Given the description of an element on the screen output the (x, y) to click on. 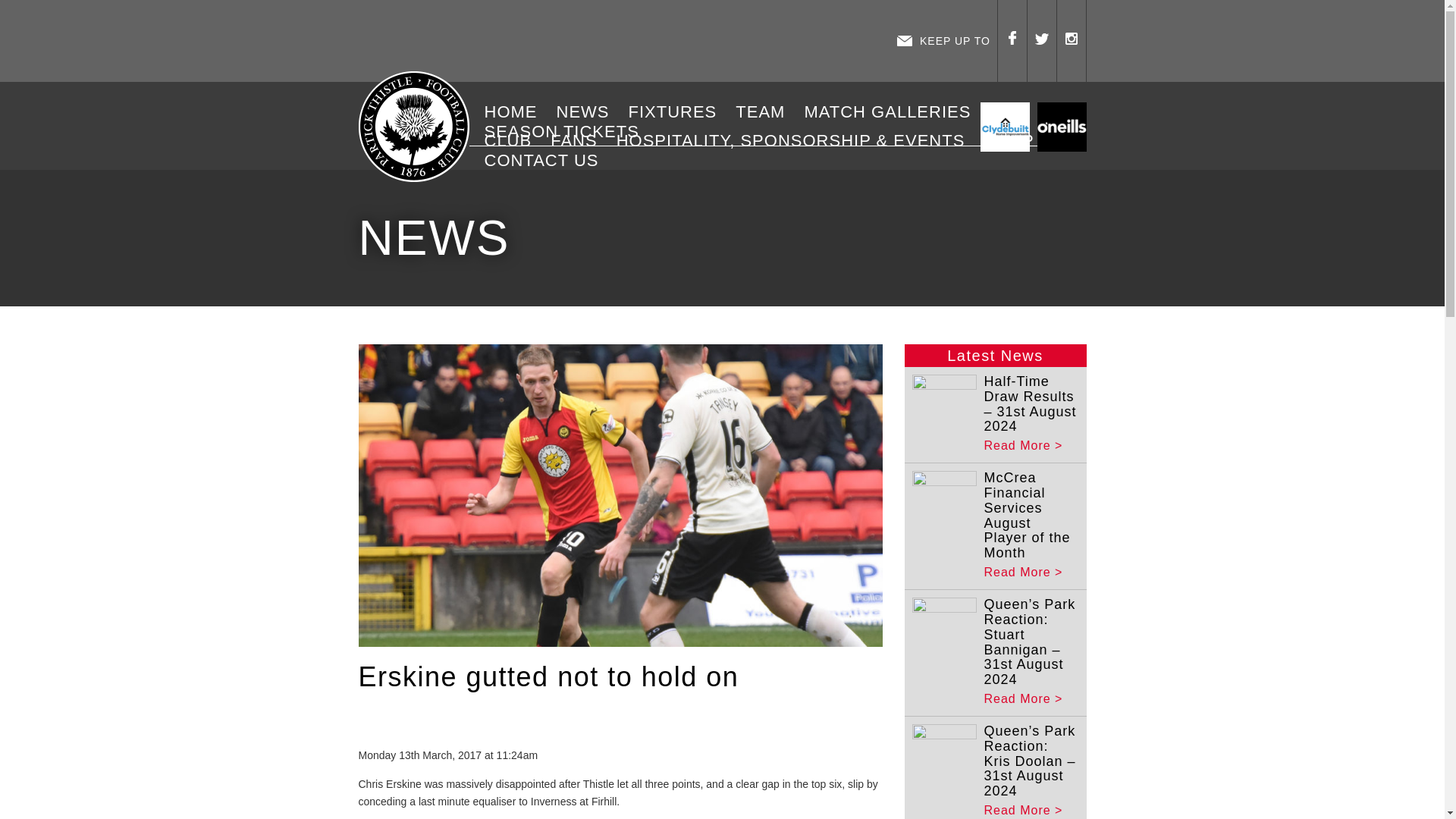
TEAM (765, 112)
SHOP (1013, 140)
Enter the JAGZONE (623, 40)
FIXTURES (678, 112)
KEEP UP TO DATE (943, 40)
MATCH GALLERIES (892, 112)
FANS (579, 140)
CLUB (513, 140)
HOME (516, 112)
CONTACT US (547, 160)
